Given the description of an element on the screen output the (x, y) to click on. 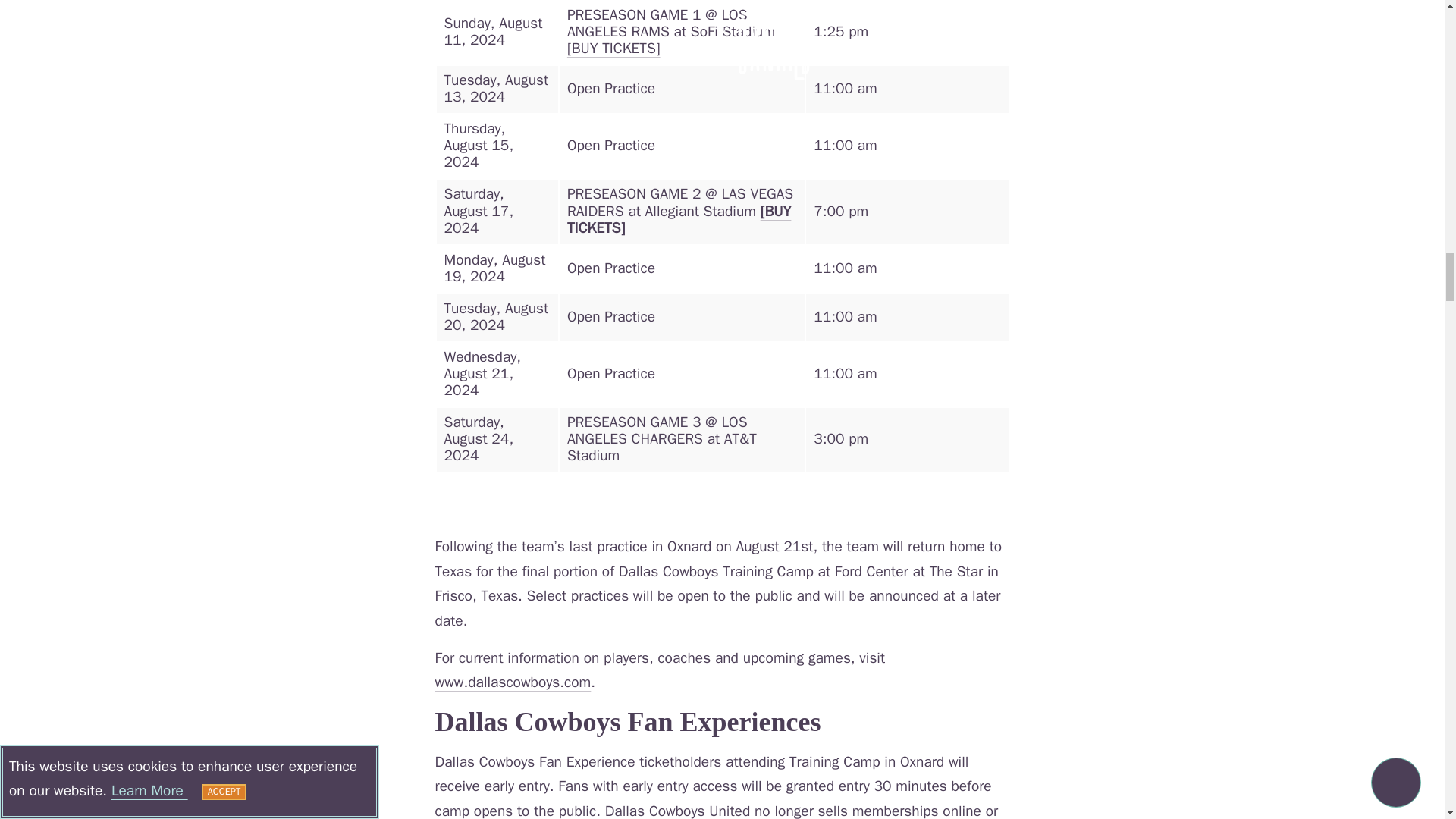
www.dallascowboys.com (513, 682)
